Given the description of an element on the screen output the (x, y) to click on. 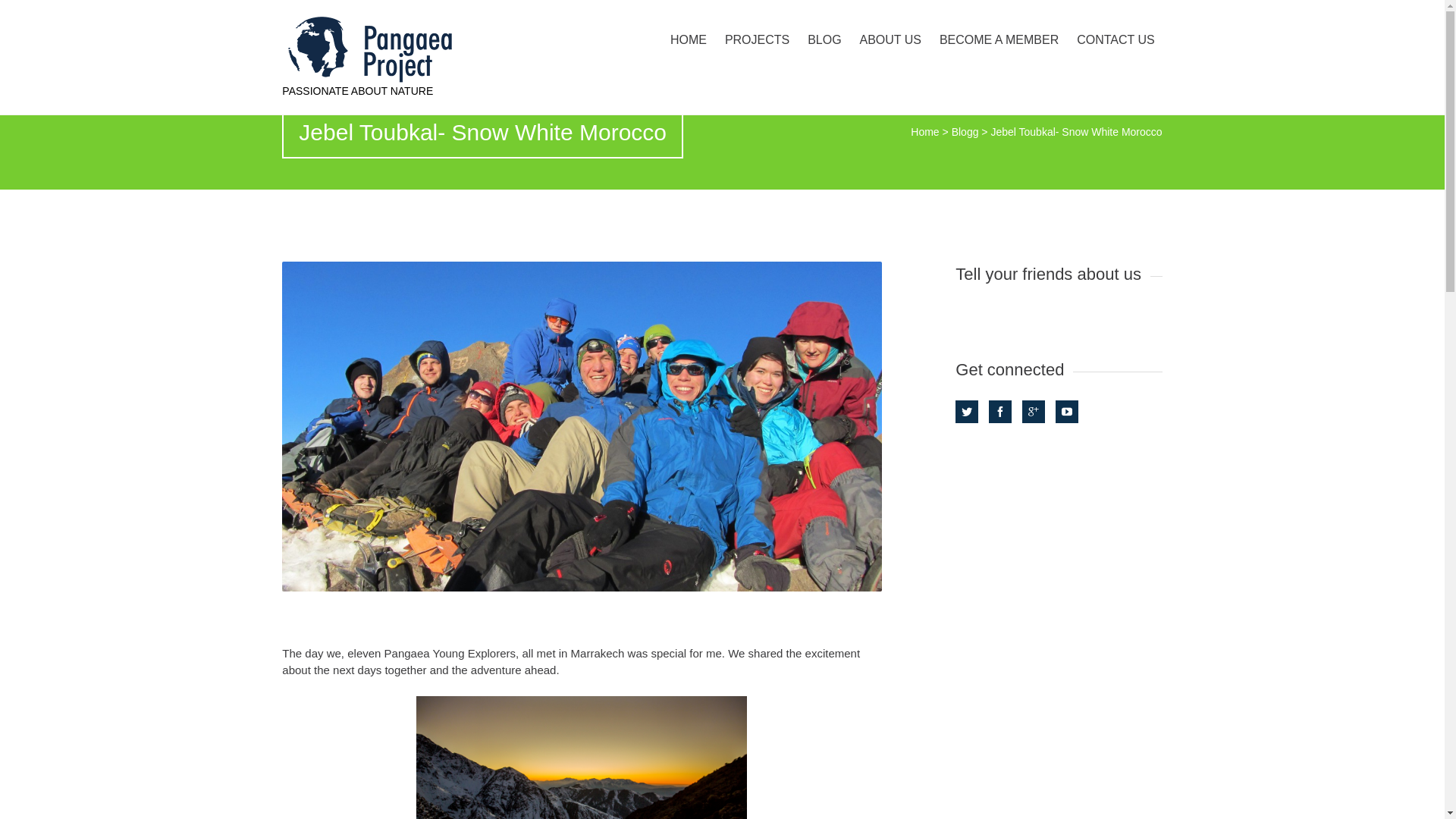
ABOUT US (889, 40)
Home (925, 132)
BECOME A MEMBER (998, 40)
Search (20, 11)
PROJECTS (756, 40)
BLOG (823, 40)
HOME (688, 40)
CONTACT US (1114, 40)
Pangaea Project - Passionate about Nature (413, 49)
Blogg (965, 132)
